Given the description of an element on the screen output the (x, y) to click on. 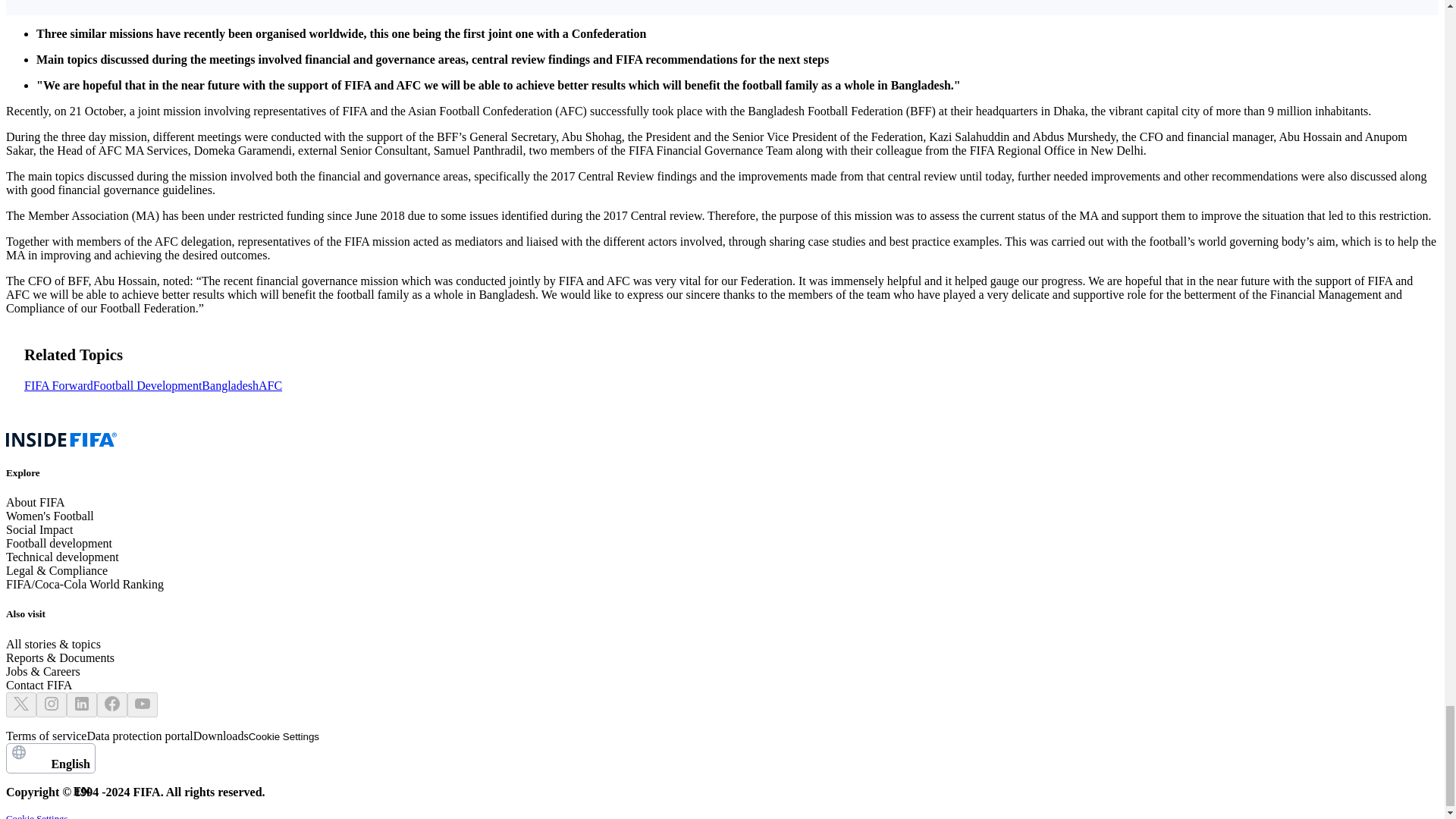
Bangladesh (230, 386)
Technical development (62, 556)
Data protection portal (138, 735)
About FIFA (35, 502)
Cookie Settings (283, 736)
Social Impact (38, 529)
Terms of service (45, 735)
Contact FIFA (50, 757)
Women's Football (38, 684)
Football development (49, 515)
Football Development (58, 543)
FIFA Forward (147, 386)
Downloads (58, 386)
AFC (220, 735)
